Given the description of an element on the screen output the (x, y) to click on. 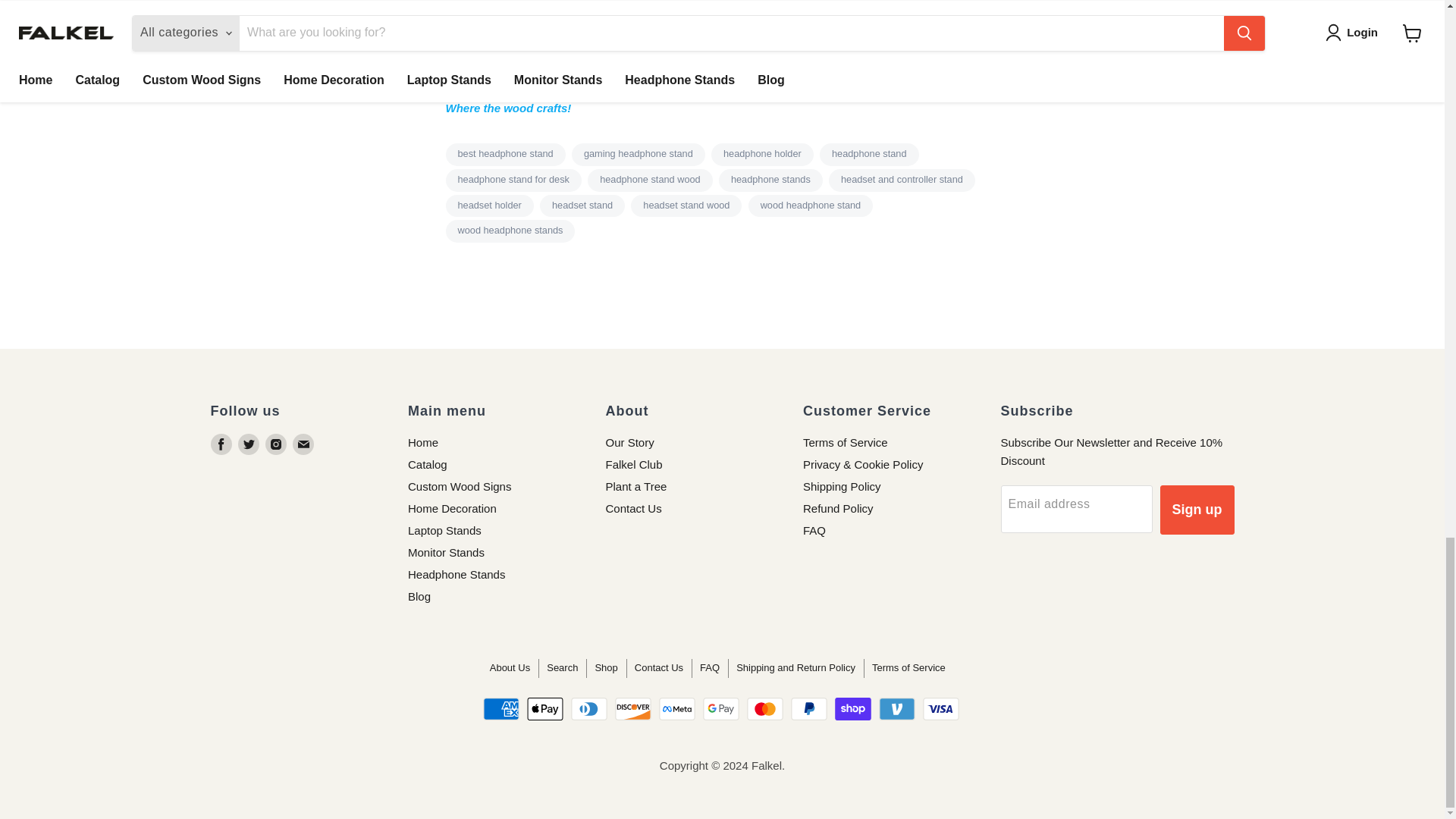
Apple Pay (545, 708)
headphone stand wood (650, 179)
headphone stands (770, 179)
Where the wood crafts! (508, 107)
PayPal (808, 708)
Facebook (221, 444)
best headphone stand (505, 154)
Google Pay (721, 708)
Meta Pay (677, 708)
one click (765, 73)
American Express (501, 708)
headphone holder (762, 154)
Twitter (248, 444)
Diners Club (588, 708)
FALKEL (508, 107)
